Given the description of an element on the screen output the (x, y) to click on. 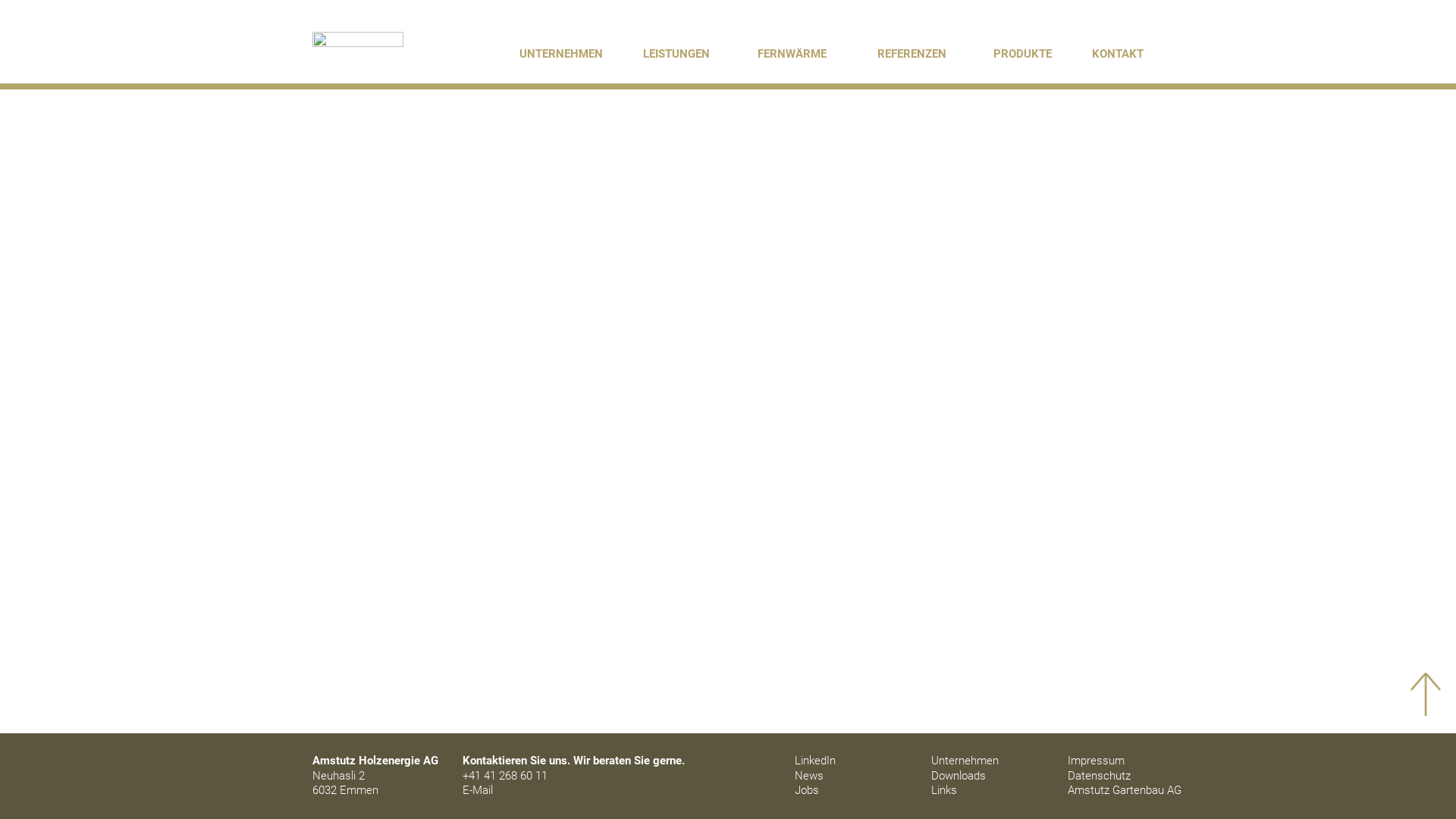
Links Element type: text (987, 790)
Datenschutz Element type: text (1124, 776)
LEISTUNGEN Element type: text (676, 48)
+41 41 268 60 11 Element type: text (504, 775)
Unternehmen Element type: text (987, 760)
LinkedIn Element type: text (851, 760)
REFERENZEN Element type: text (910, 48)
Jobs Element type: text (851, 790)
KONTAKT Element type: text (1117, 48)
Downloads Element type: text (987, 776)
Impressum Element type: text (1124, 760)
News Element type: text (851, 776)
E-Mail Element type: text (477, 790)
Amstutz Gartenbau AG Element type: text (1124, 790)
PRODUKTE Element type: text (1022, 48)
UNTERNEHMEN Element type: text (560, 48)
